Given the description of an element on the screen output the (x, y) to click on. 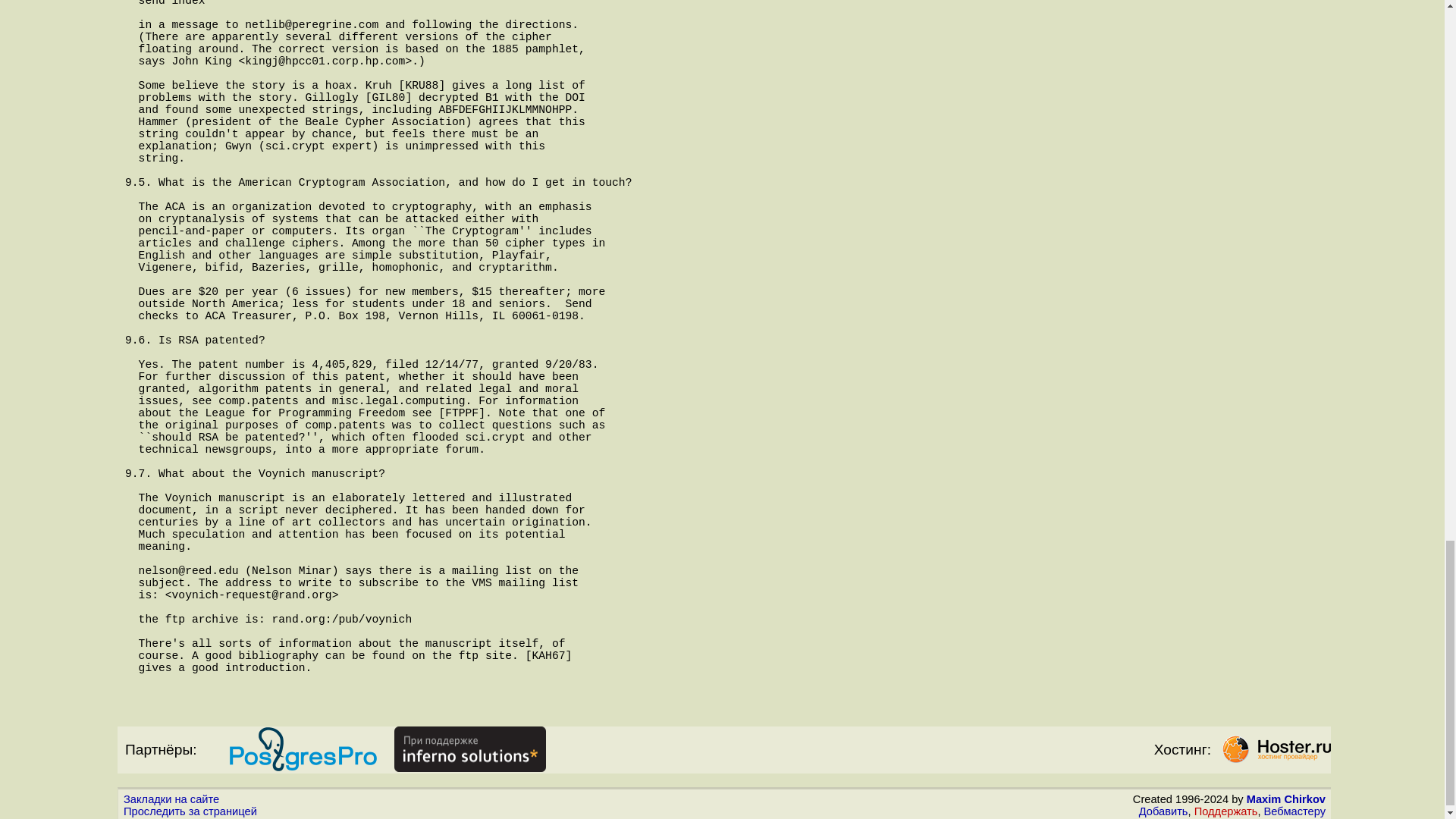
Maxim Chirkov (1285, 799)
